Given the description of an element on the screen output the (x, y) to click on. 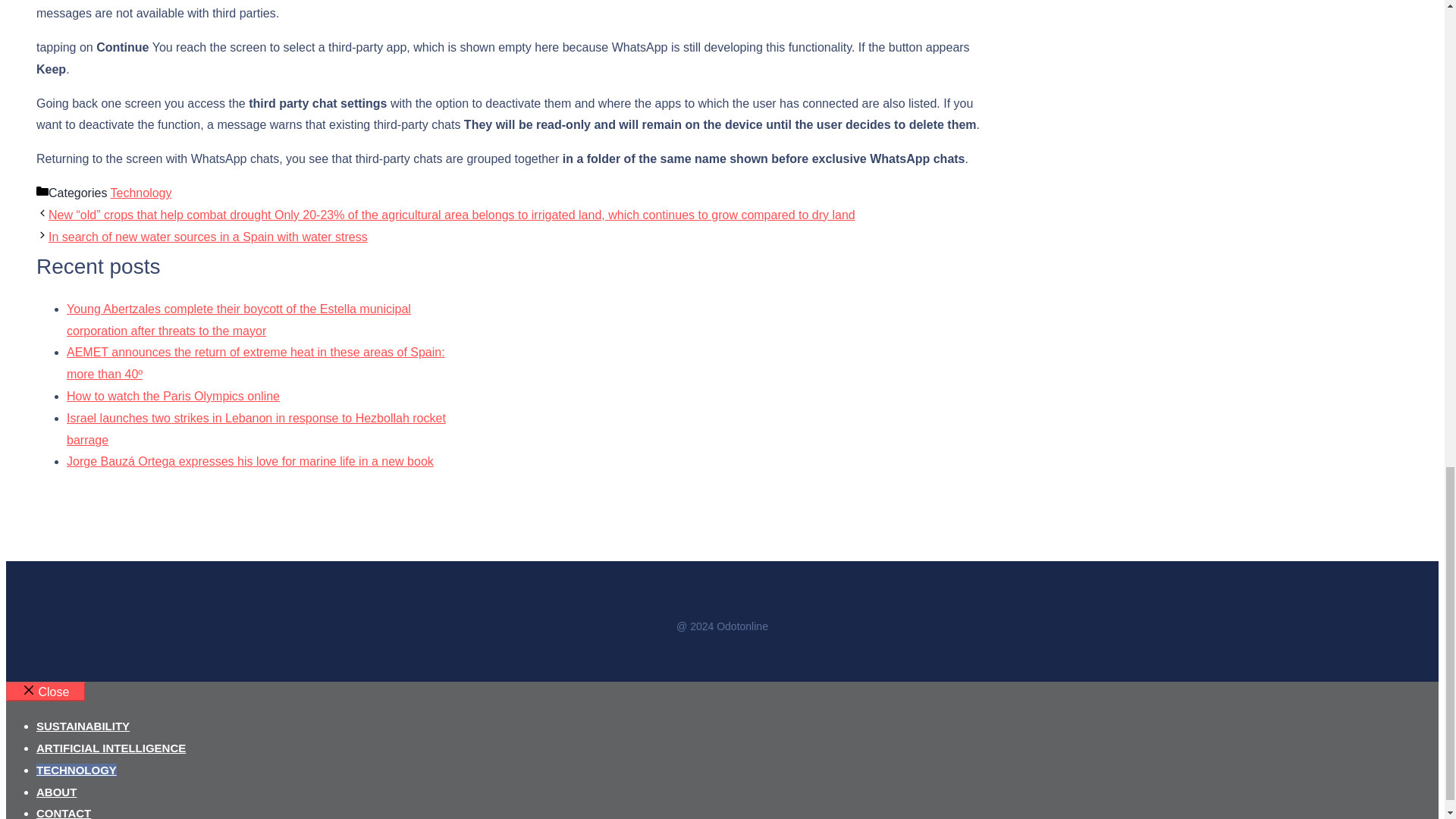
Close (45, 691)
ABOUT (56, 791)
In search of new water sources in a Spain with water stress (208, 236)
Technology (140, 192)
TECHNOLOGY (76, 769)
How to watch the Paris Olympics online (172, 395)
ARTIFICIAL INTELLIGENCE (111, 748)
SUSTAINABILITY (82, 725)
